Given the description of an element on the screen output the (x, y) to click on. 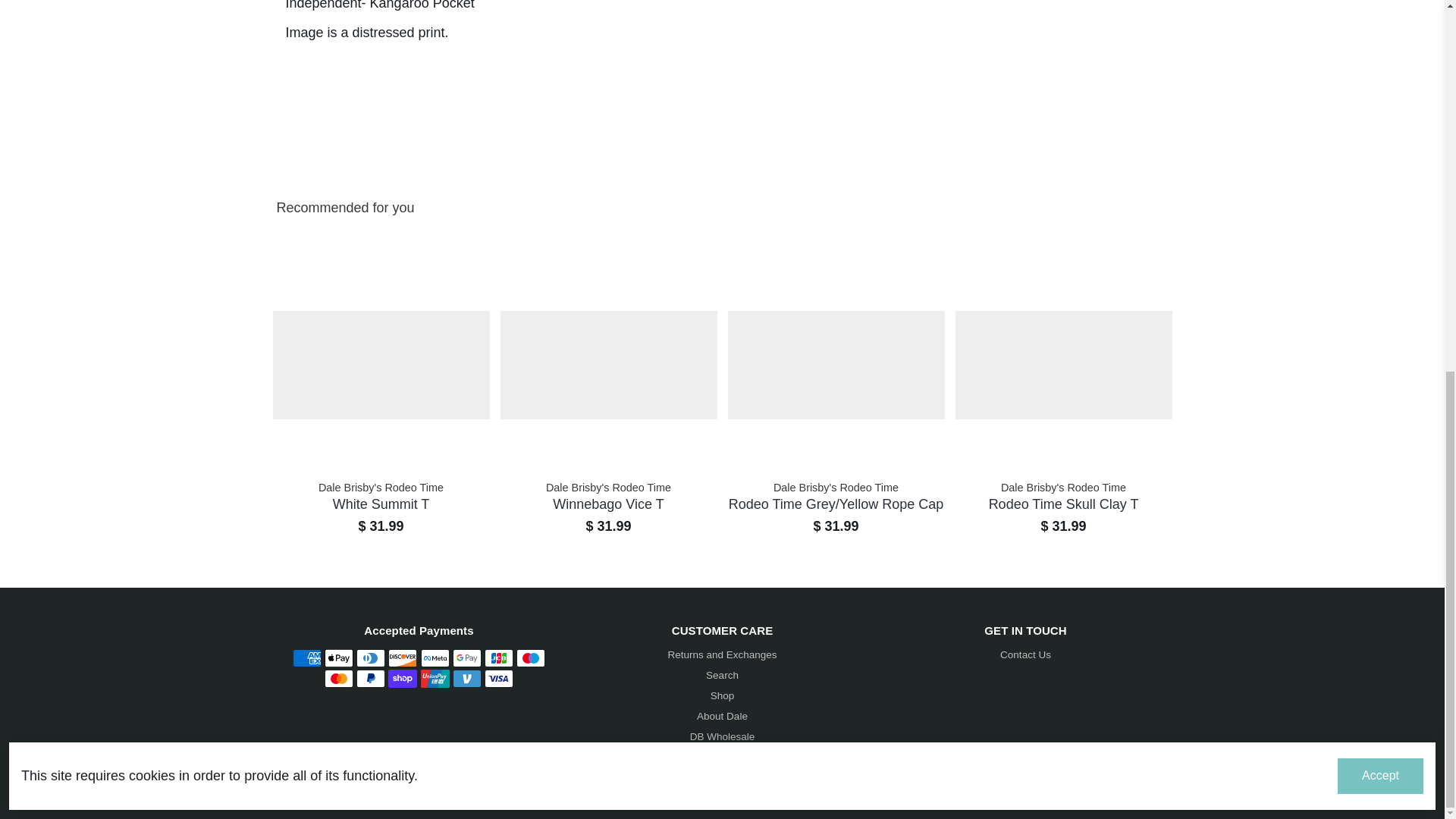
Apple Pay (338, 658)
American Express (306, 658)
JCB (498, 658)
Venmo (466, 678)
Discover (402, 658)
Mastercard (338, 678)
Shop Pay (402, 678)
Visa (498, 678)
Google Pay (466, 658)
Maestro (530, 658)
